Given the description of an element on the screen output the (x, y) to click on. 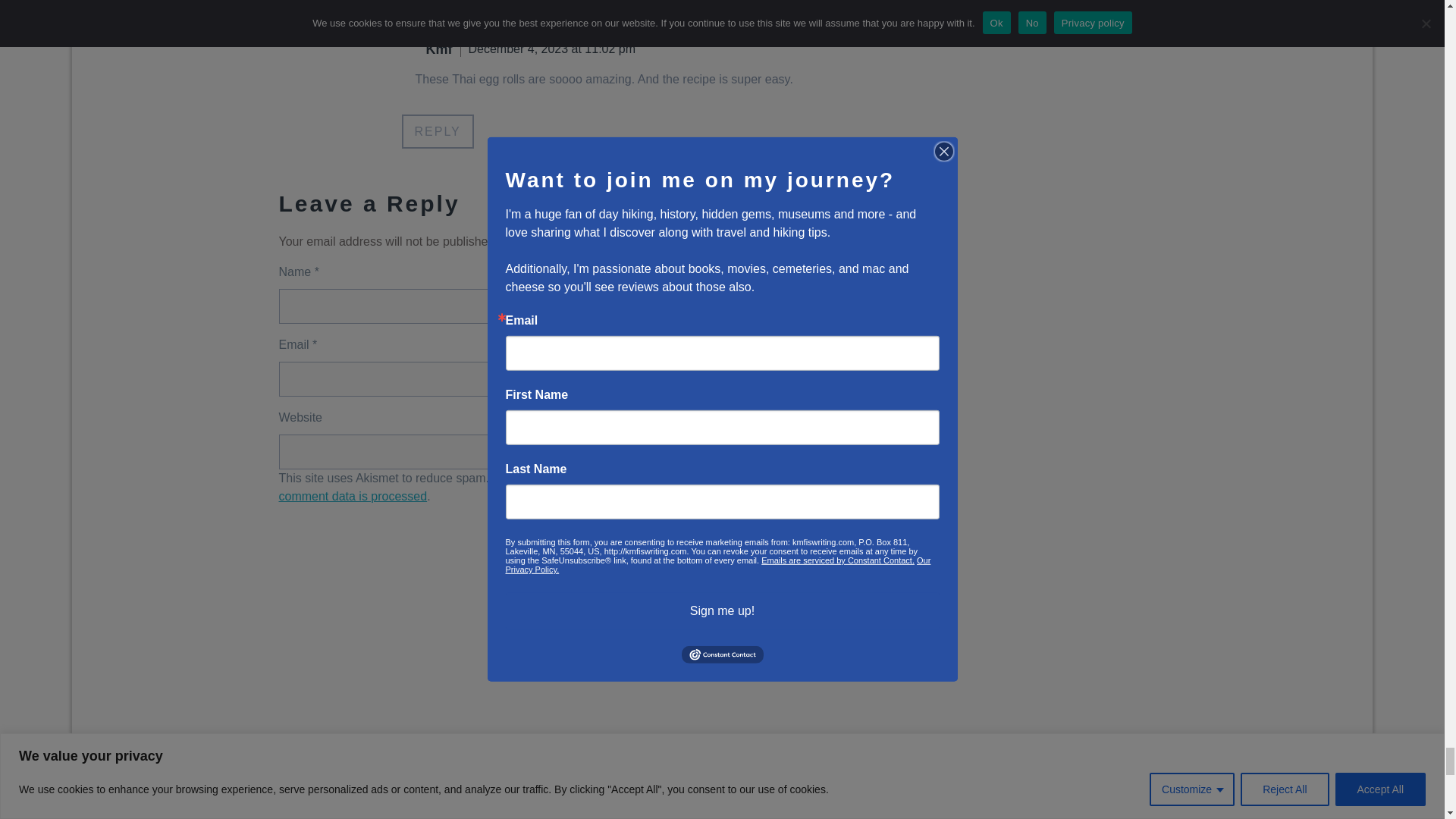
Post Comment (805, 508)
